Given the description of an element on the screen output the (x, y) to click on. 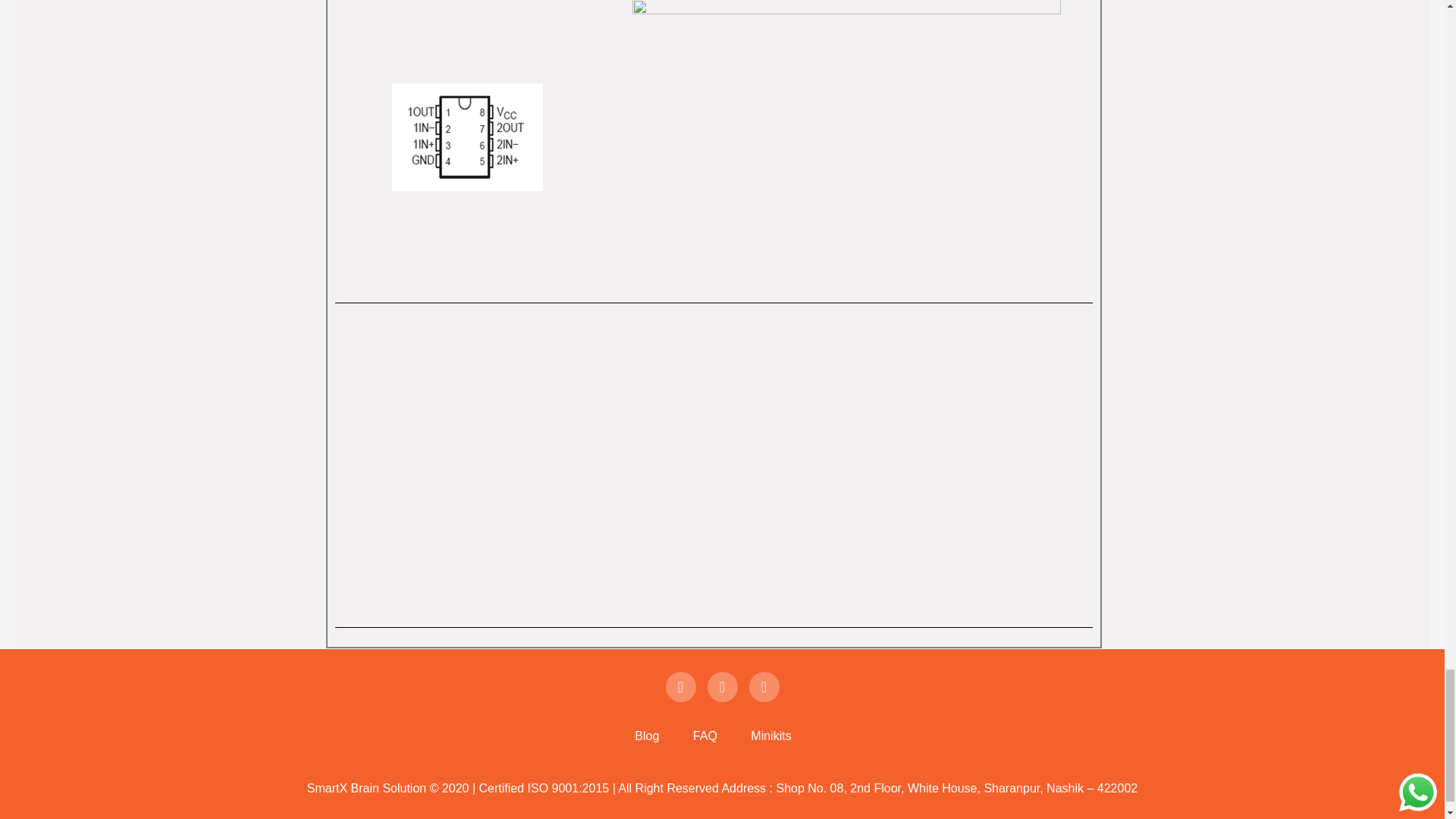
Minikits (770, 735)
Youtube (680, 686)
Instagram (721, 686)
Blog (646, 735)
FAQ (705, 735)
Blog (646, 735)
Linkedin (763, 686)
